Given the description of an element on the screen output the (x, y) to click on. 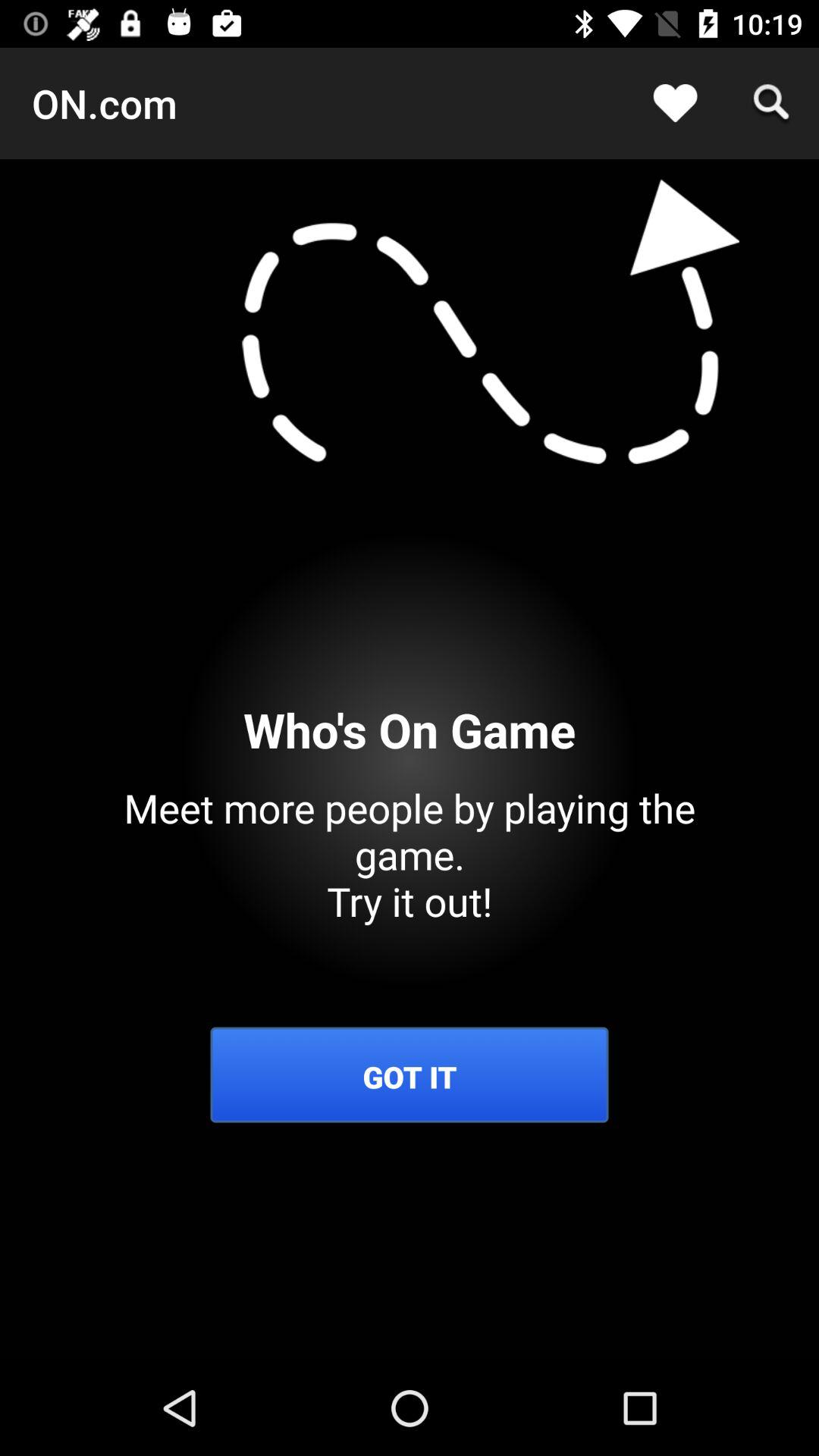
turn off the got it item (409, 1076)
